Given the description of an element on the screen output the (x, y) to click on. 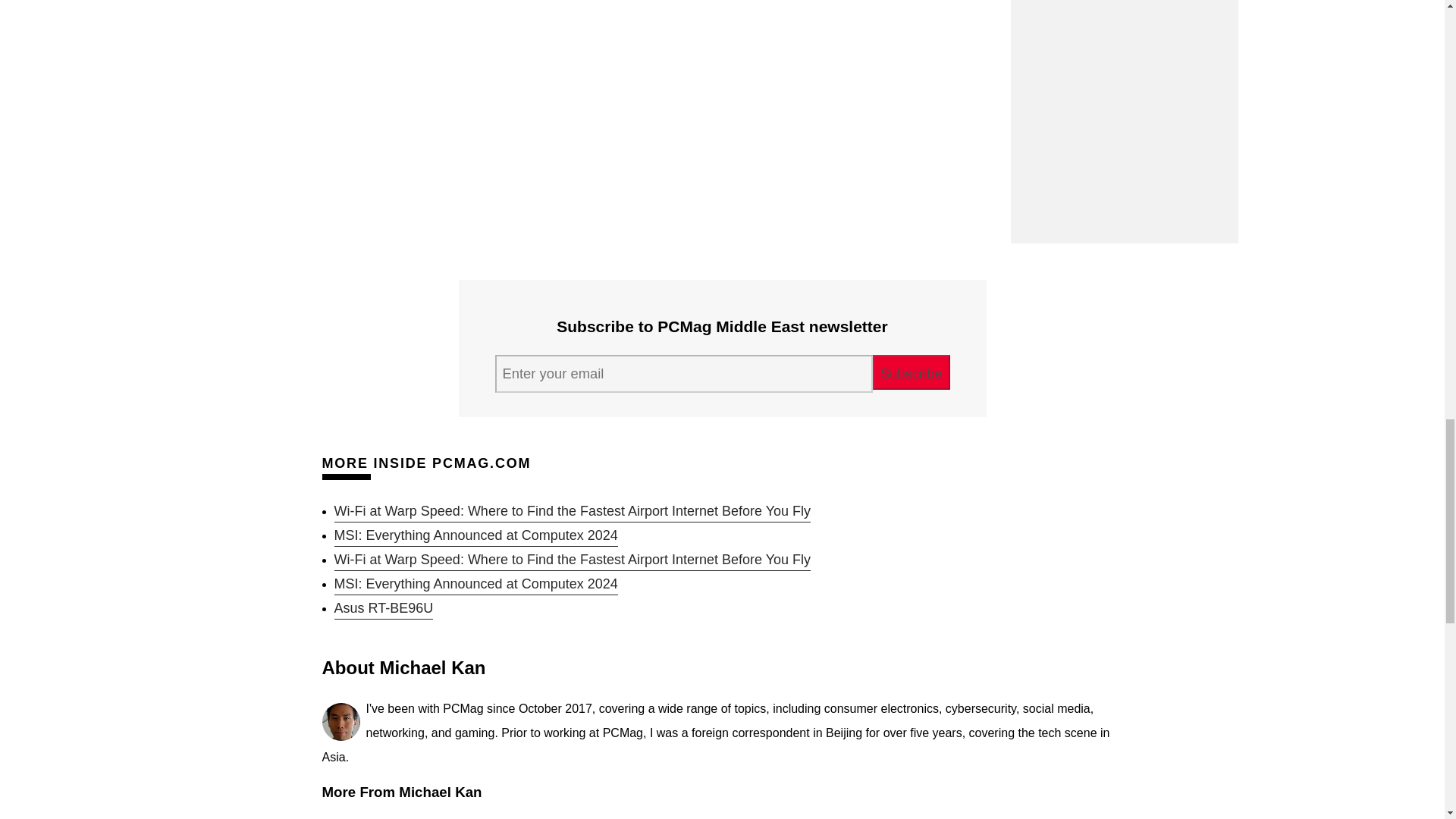
Subscribe (911, 371)
